Given the description of an element on the screen output the (x, y) to click on. 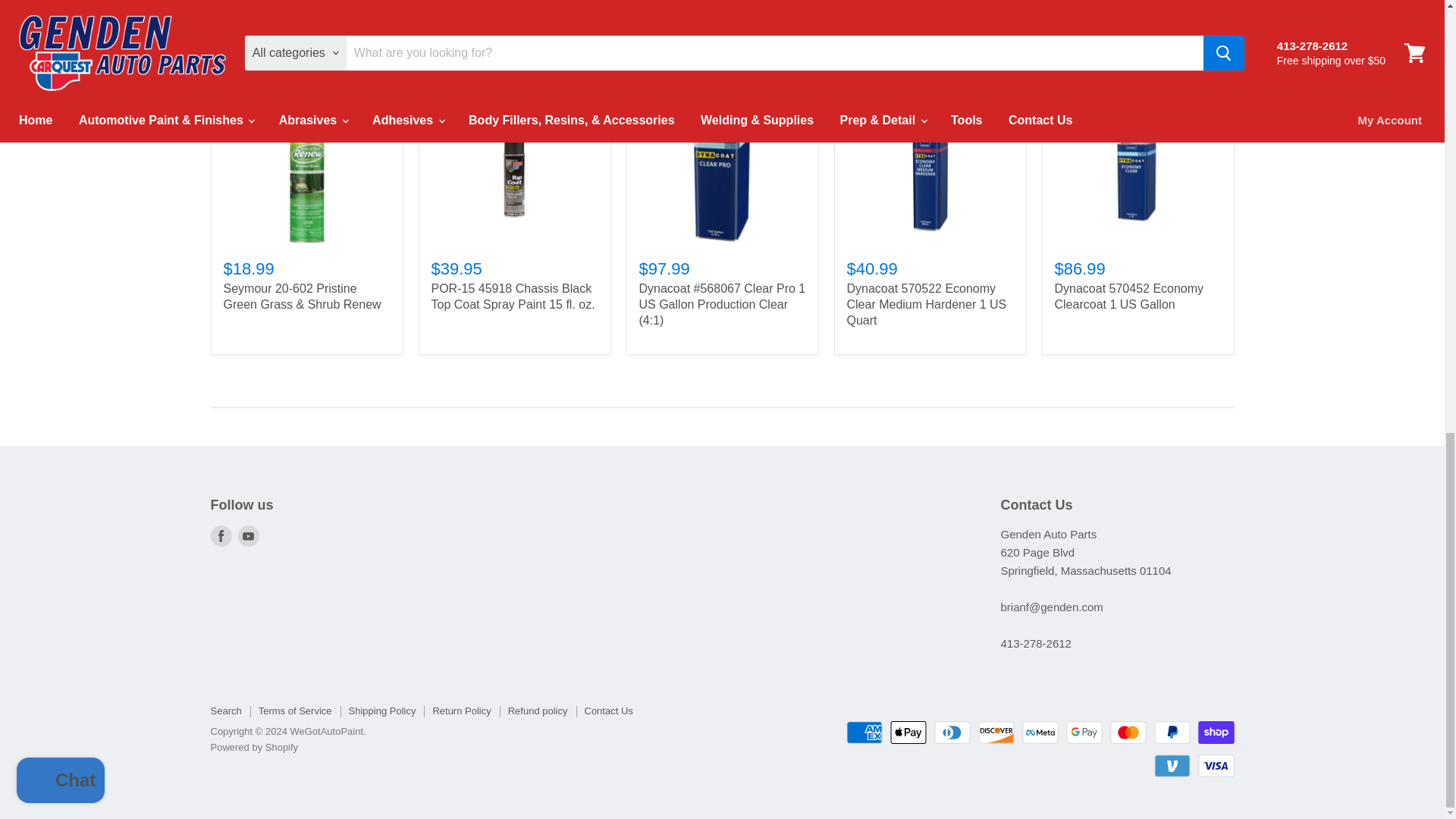
Facebook (221, 536)
Youtube (248, 536)
Diners Club (952, 732)
American Express (863, 732)
Discover (996, 732)
Apple Pay (907, 732)
